Given the description of an element on the screen output the (x, y) to click on. 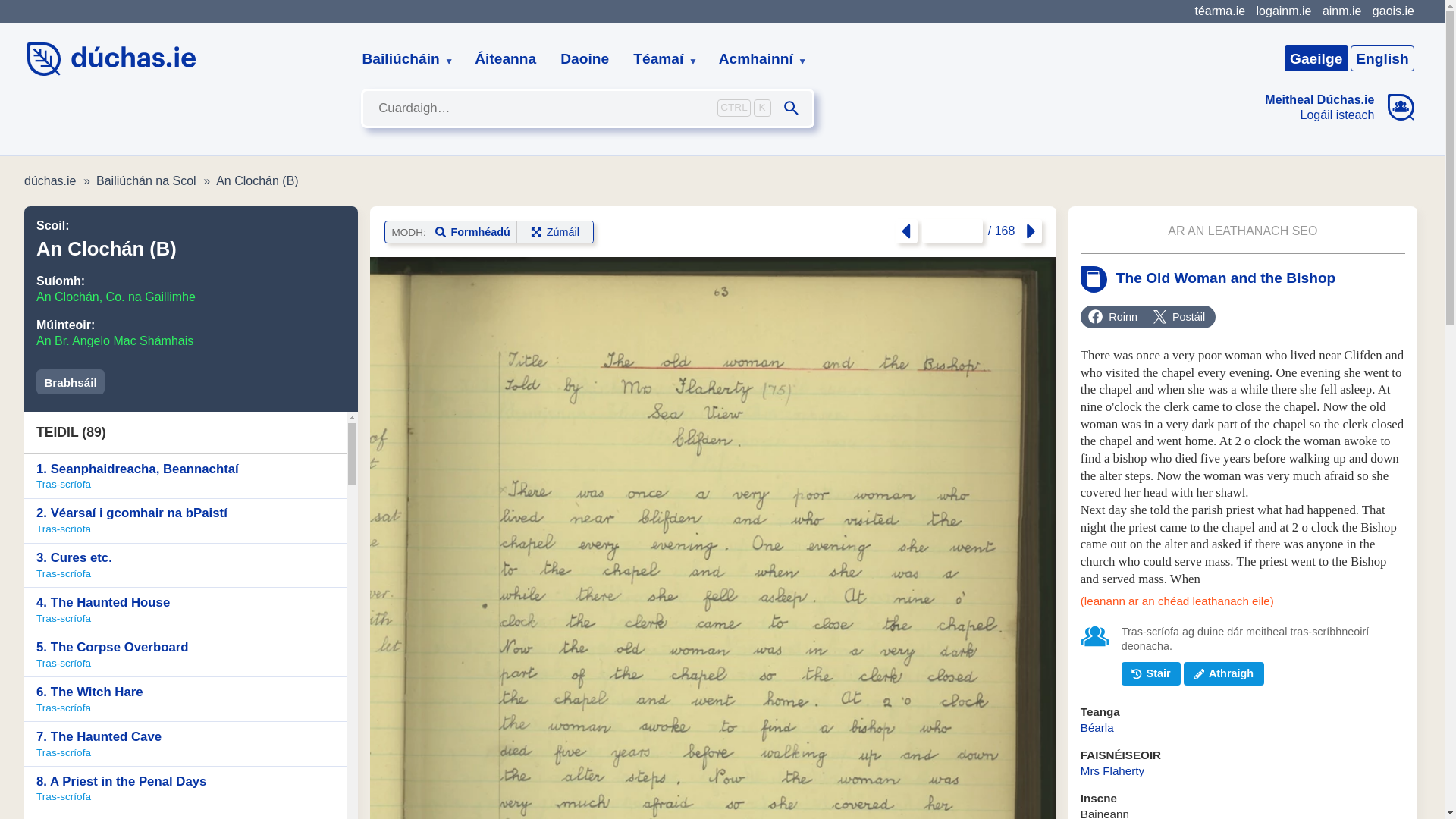
gaois.ie (1393, 11)
Gaeilge (1316, 58)
Daoine (584, 58)
English (1382, 58)
logainm.ie (1283, 11)
ainm.ie (1341, 11)
